Given the description of an element on the screen output the (x, y) to click on. 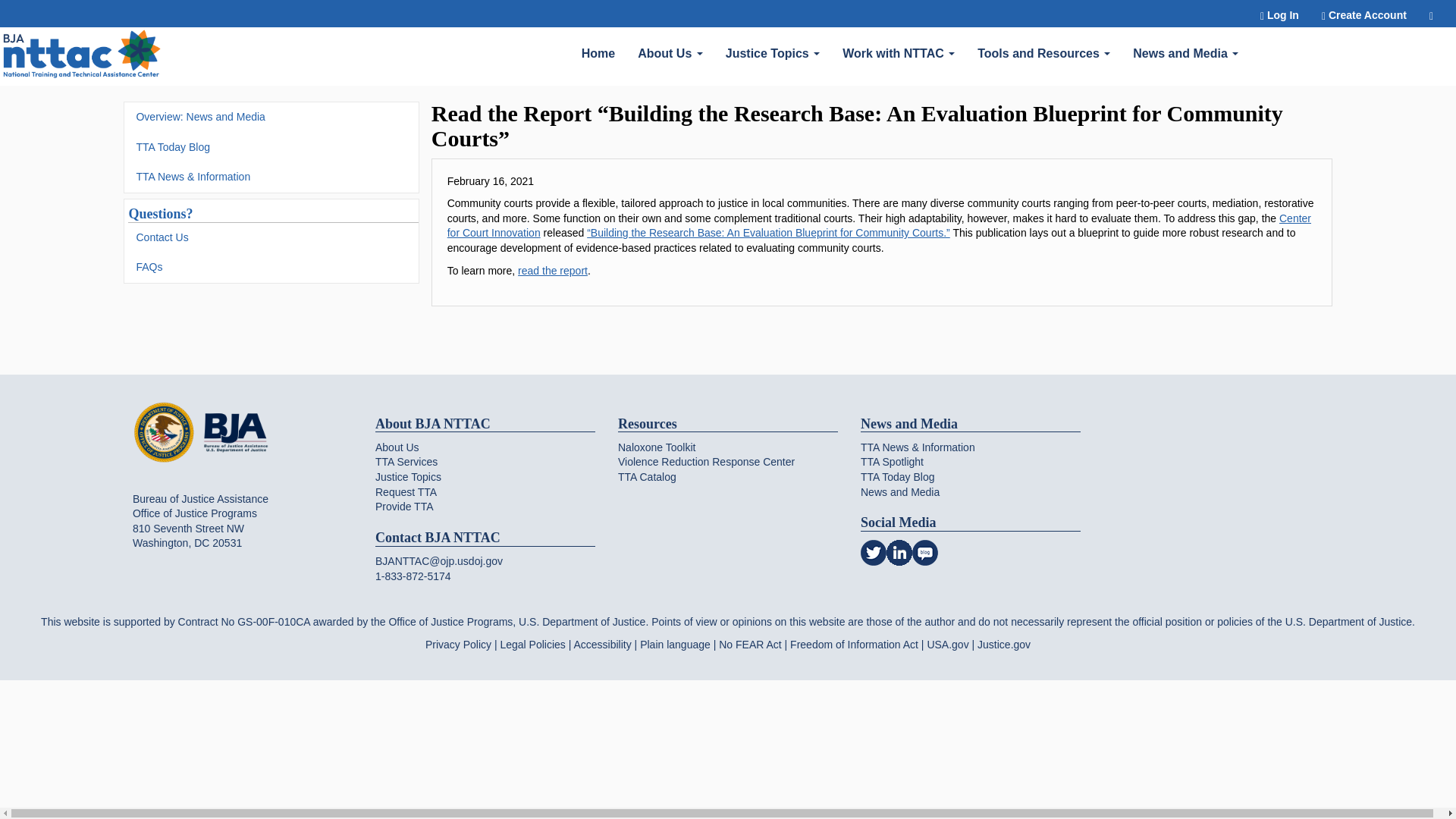
Log In (1279, 13)
Home (598, 52)
Work with NTTAC (898, 52)
Create Account (1364, 13)
Overview (670, 52)
About Us (670, 52)
Register for Account (1364, 13)
Navigate to Working with BJA NTTAC (81, 56)
Justice Topics (772, 52)
Site logo linked to front page of BJA NTTAC (81, 56)
